Given the description of an element on the screen output the (x, y) to click on. 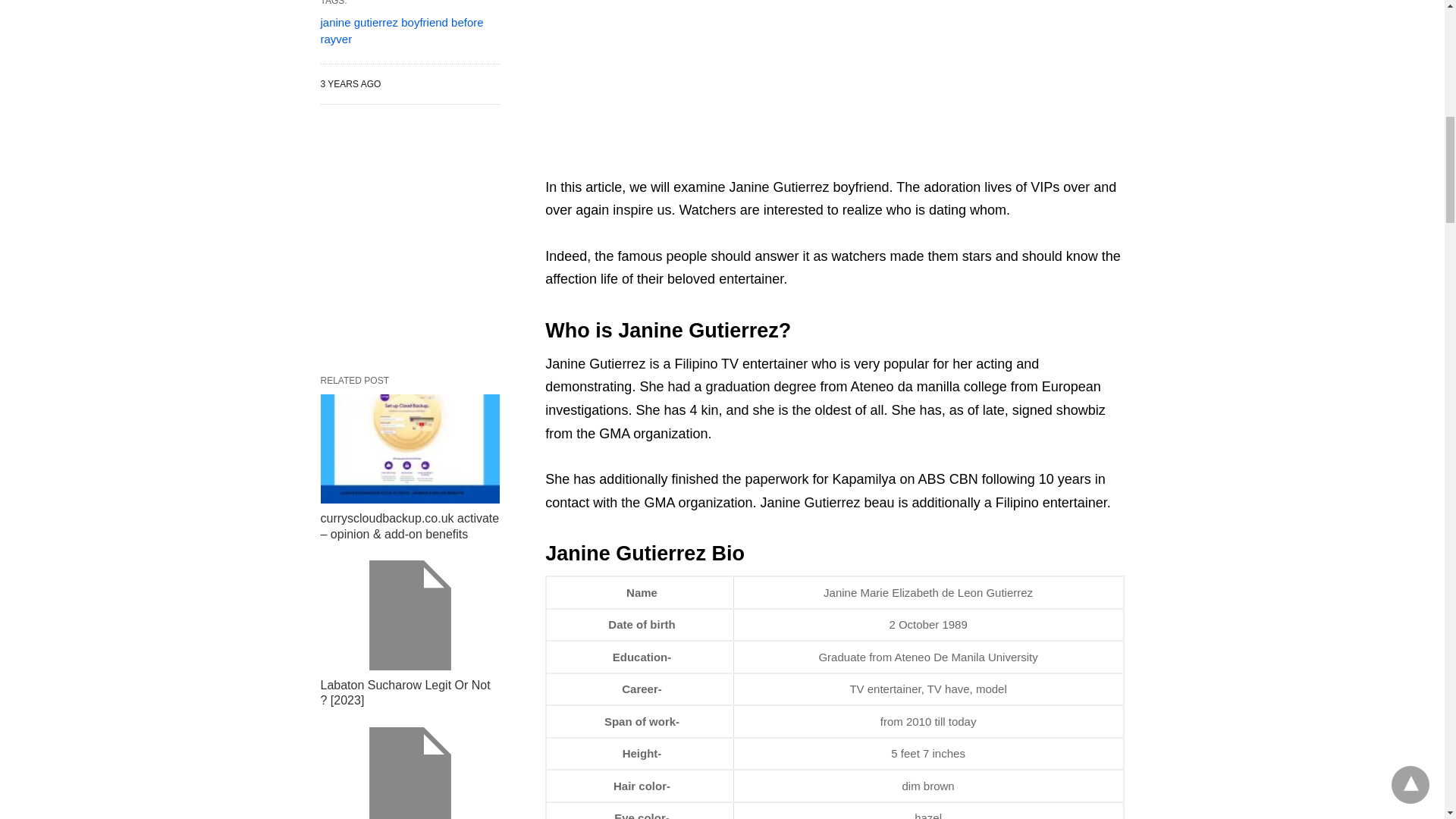
3rd party ad content (834, 78)
janine gutierrez boyfriend before rayver (401, 30)
janine gutierrez boyfriend before rayver (401, 30)
